Given the description of an element on the screen output the (x, y) to click on. 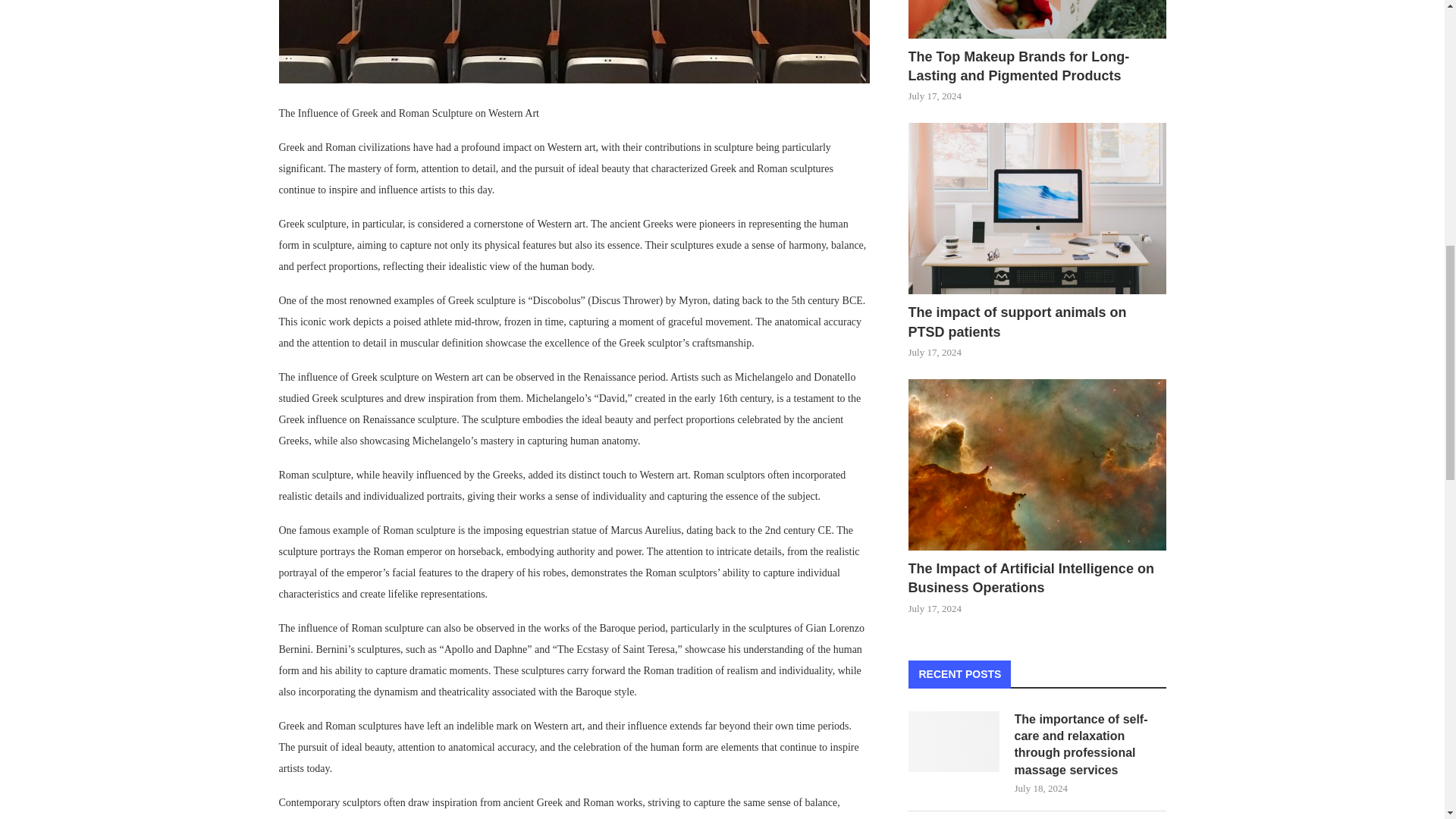
The-Influence-of-Greek-and-Roman-Sculpture-on-Western-Art (574, 41)
